Given the description of an element on the screen output the (x, y) to click on. 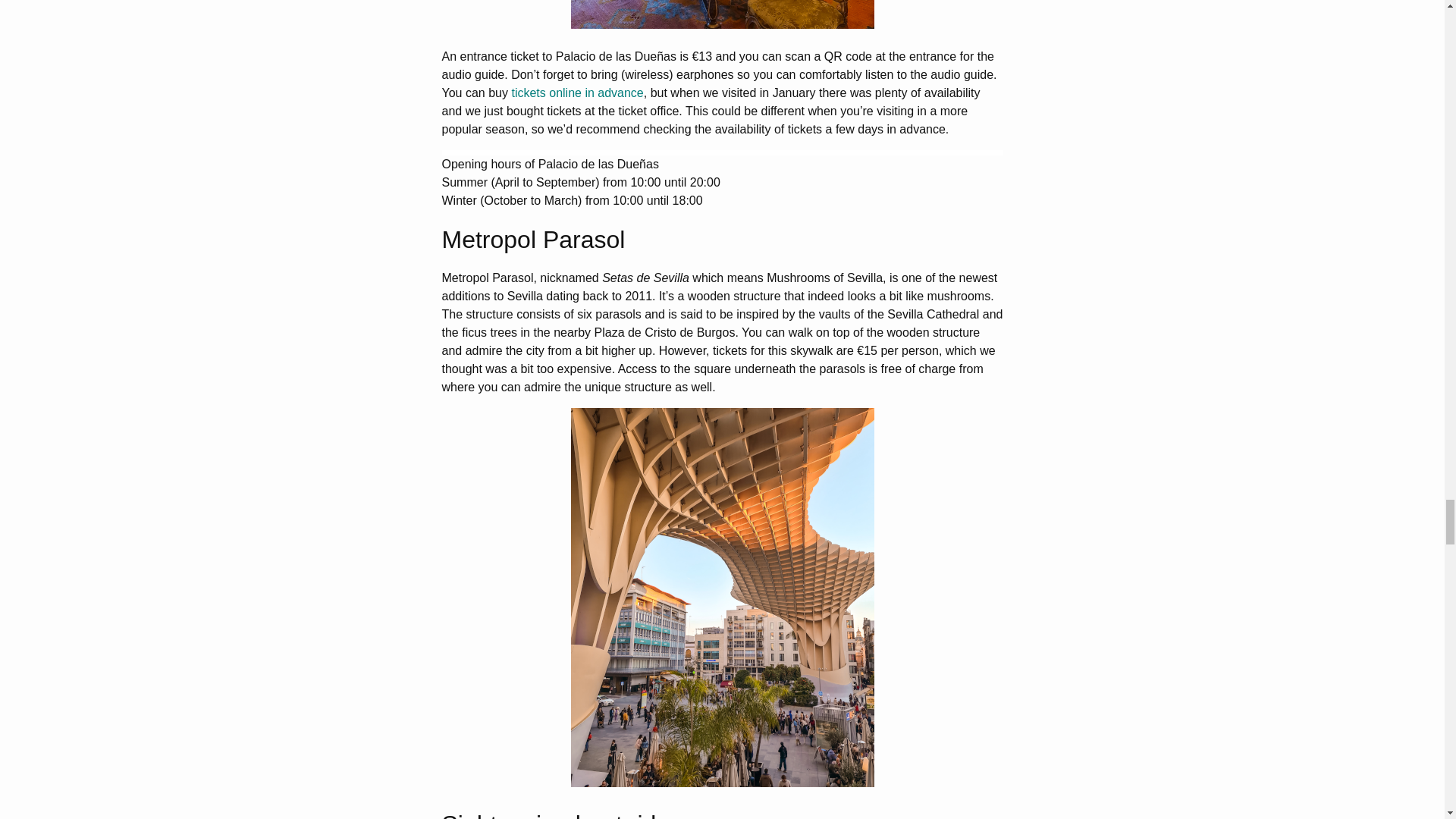
tickets online in advance (577, 92)
